Given the description of an element on the screen output the (x, y) to click on. 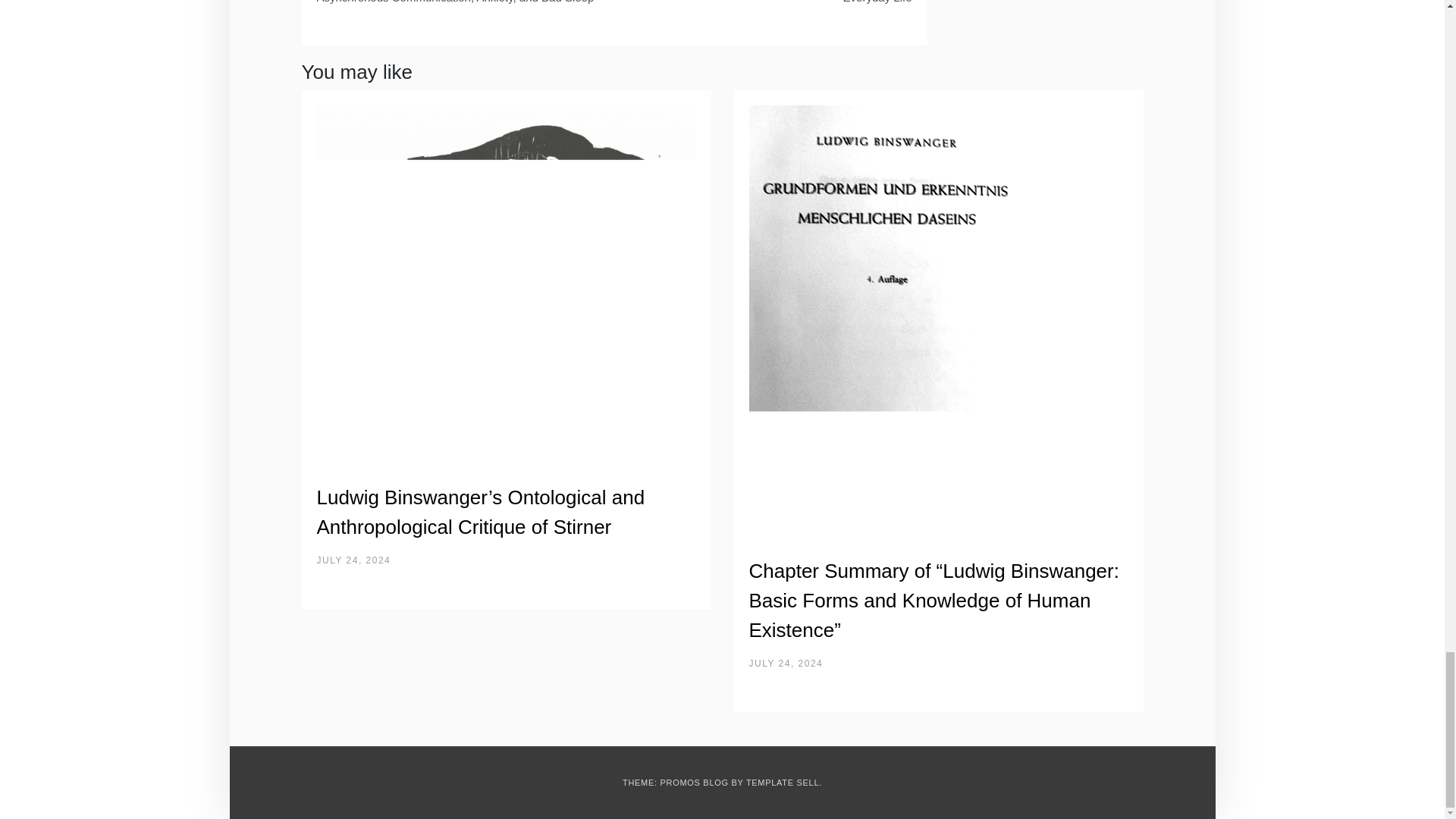
TEMPLATE SELL (781, 782)
Everyday Life (769, 7)
Asynchronous Communication, Anxiety, and Bad Sleep (460, 7)
